Given the description of an element on the screen output the (x, y) to click on. 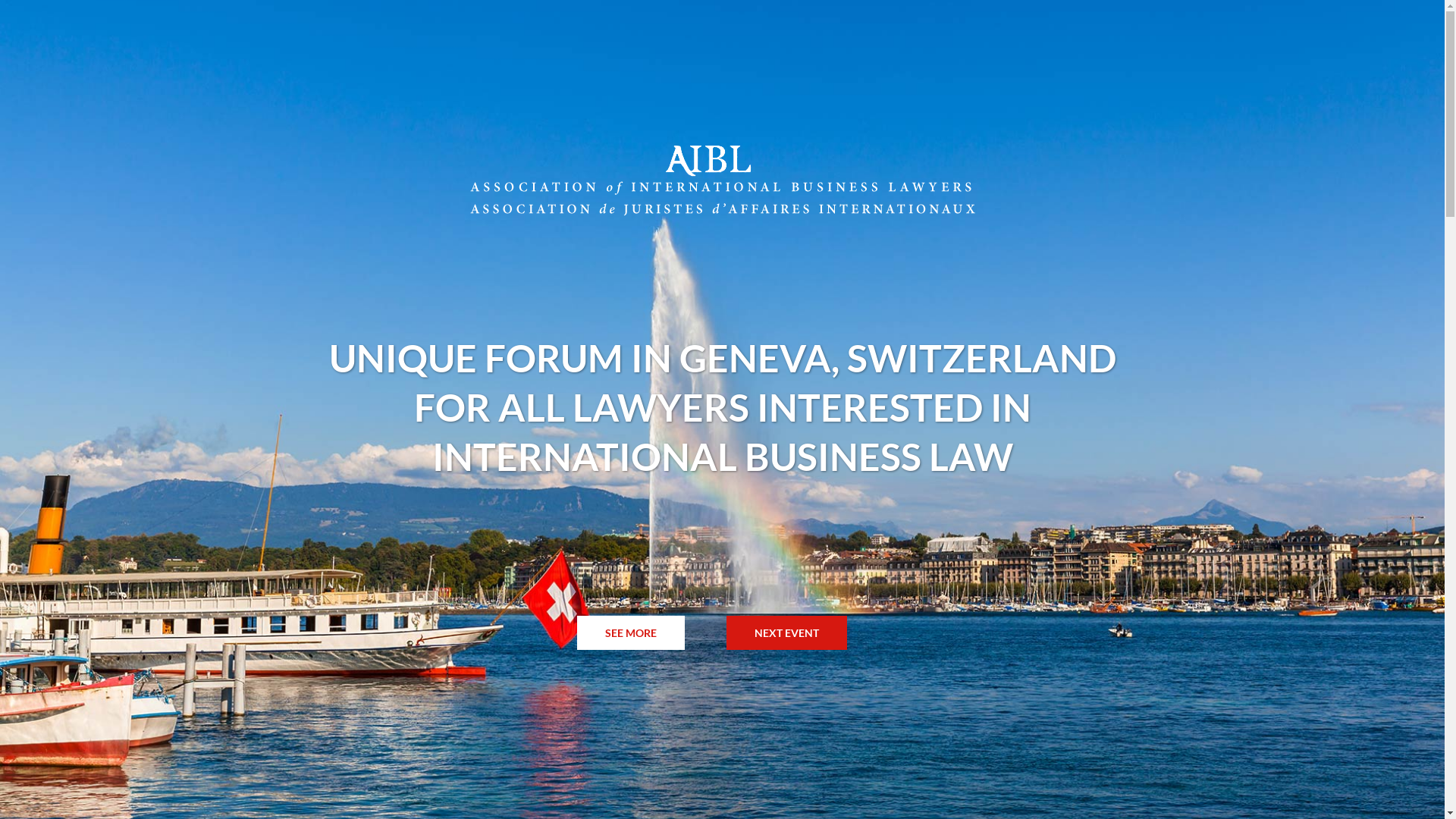
NEXT EVENT Element type: text (786, 632)
